Given the description of an element on the screen output the (x, y) to click on. 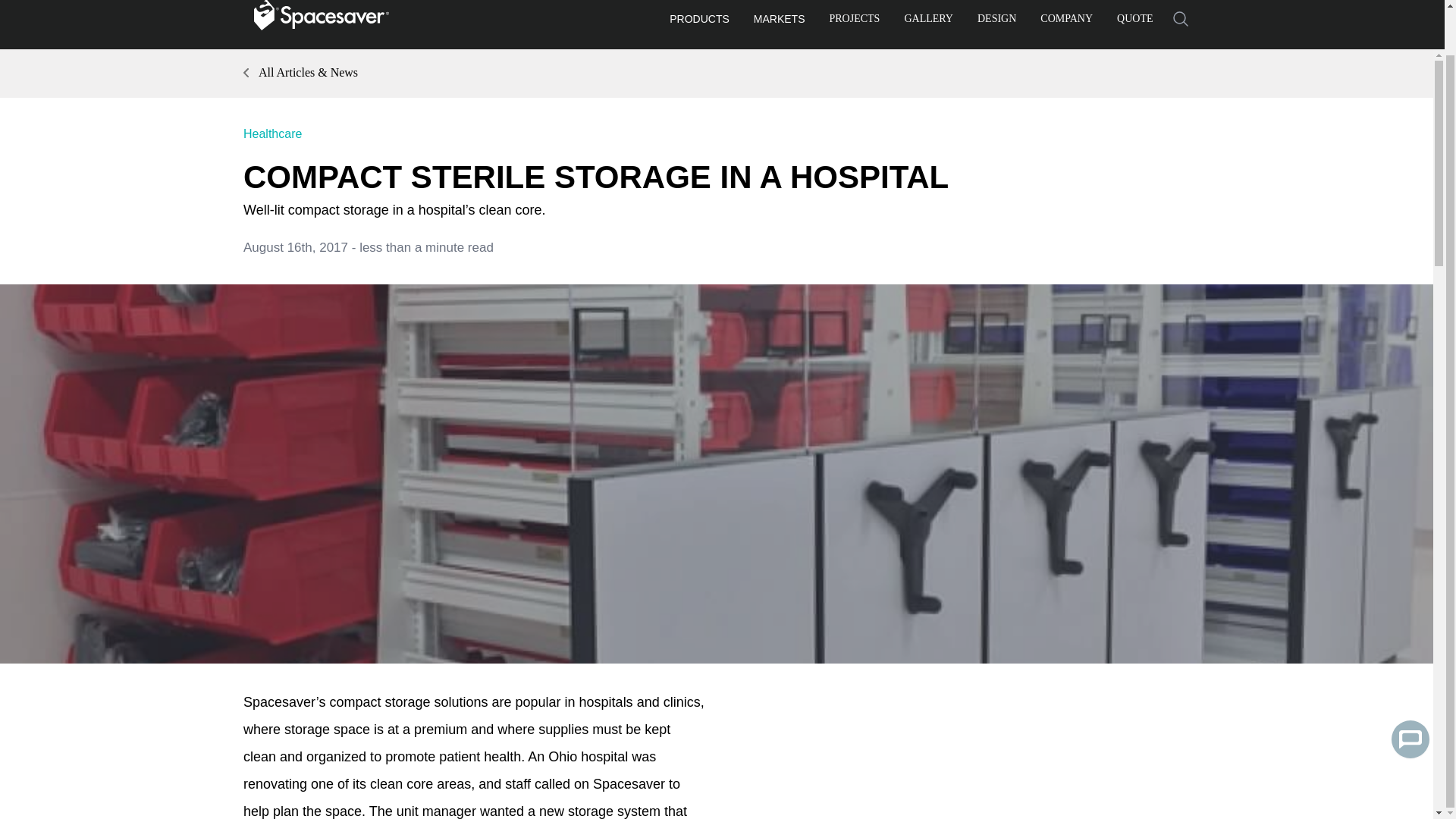
Healthcare (272, 133)
GALLERY (928, 21)
MARKETS (779, 22)
PROJECTS (854, 21)
PRODUCTS (699, 22)
Search (1179, 19)
